Given the description of an element on the screen output the (x, y) to click on. 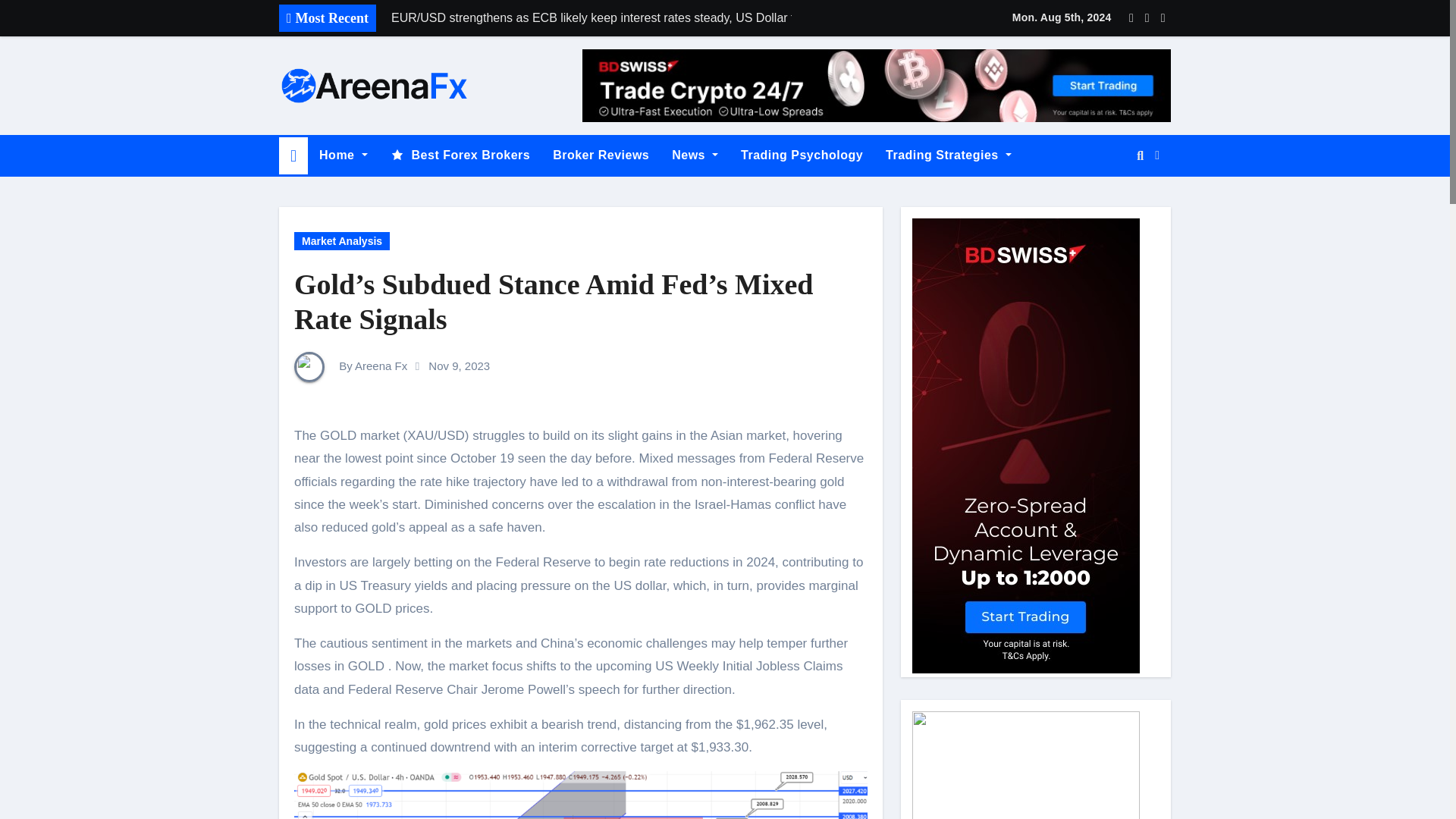
Trading Strategies (949, 155)
News (695, 155)
Home (342, 155)
Trading Psychology (802, 155)
Home (342, 155)
Broker Reviews (601, 155)
Broker Reviews (601, 155)
News (695, 155)
Trading Psychology (802, 155)
Trading Strategies (949, 155)
Best Forex Brokers (459, 155)
Best Forex Brokers (459, 155)
